Given the description of an element on the screen output the (x, y) to click on. 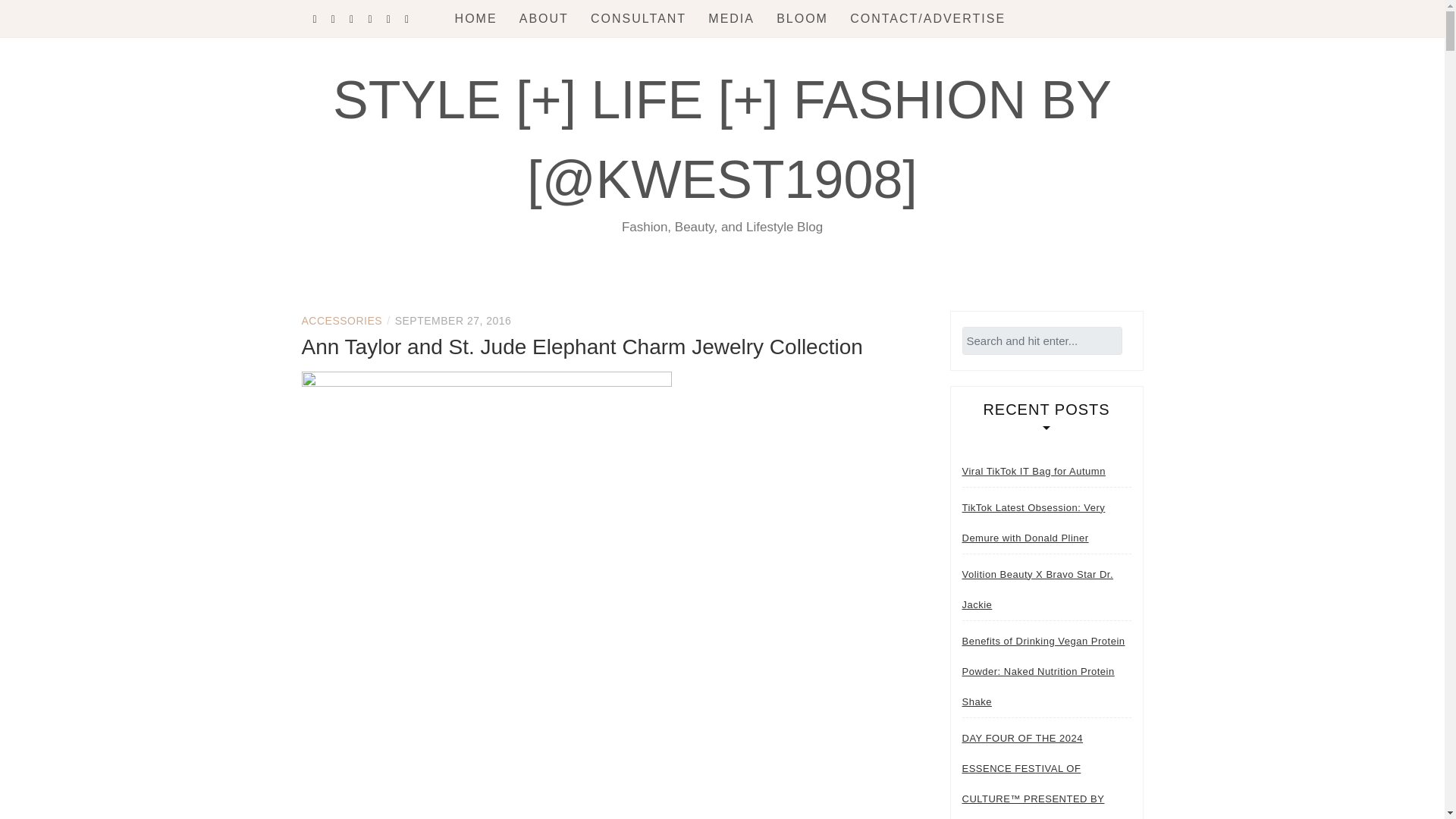
HOME (475, 18)
CONSULTANT (638, 18)
Viral TikTok IT Bag for Autumn (1032, 471)
MEDIA (730, 18)
Volition Beauty X Bravo Star Dr. Jackie (1045, 589)
TikTok Latest Obsession: Very Demure with Donald Pliner (1045, 523)
BLOOM (802, 18)
ABOUT (544, 18)
Kimberly-West-Influencer (544, 18)
Contact (928, 18)
